Given the description of an element on the screen output the (x, y) to click on. 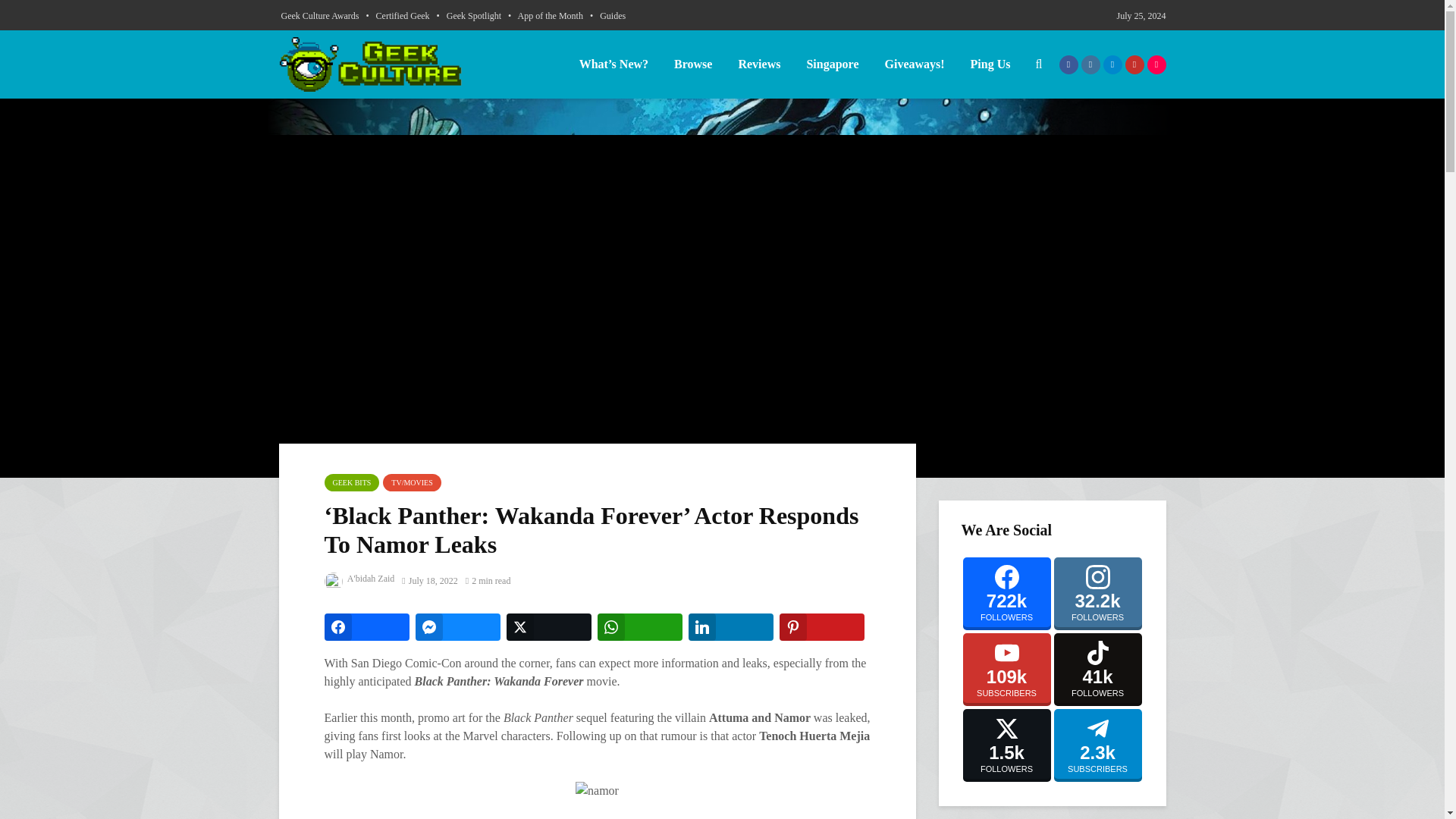
Singapore (831, 64)
Share on Facebook Messenger (457, 626)
Share on WhatsApp (639, 626)
Share on Pinterest (821, 626)
Browse (692, 64)
Reviews (759, 64)
Ping Us (990, 64)
Geek Culture Awards (319, 15)
Share on Facebook (366, 626)
Share on LinkedIn (730, 626)
Share on Twitter (548, 626)
Giveaways! (913, 64)
